Given the description of an element on the screen output the (x, y) to click on. 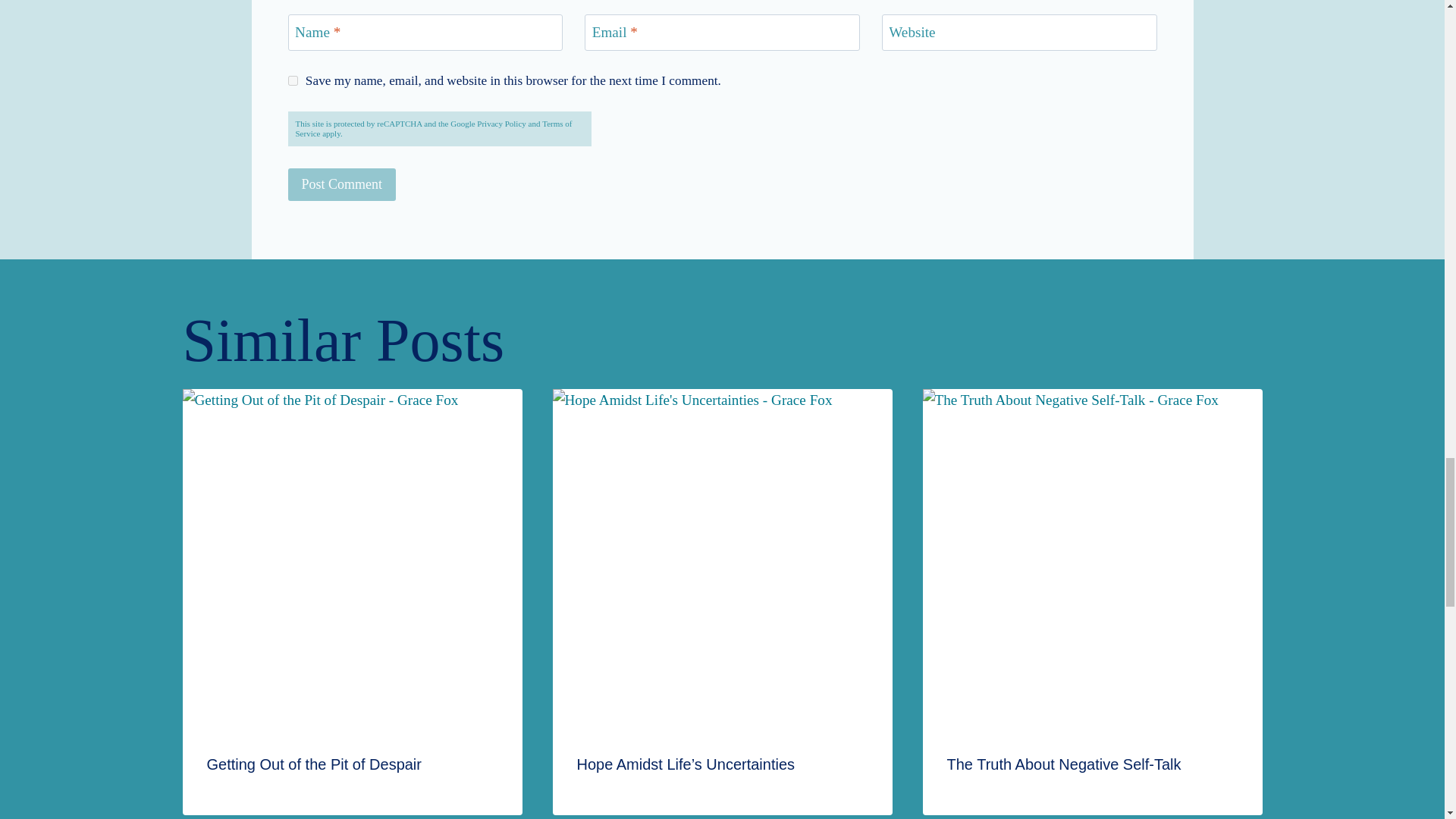
yes (293, 80)
Getting Out of the Pit of Despair (313, 764)
Post Comment (342, 184)
